Given the description of an element on the screen output the (x, y) to click on. 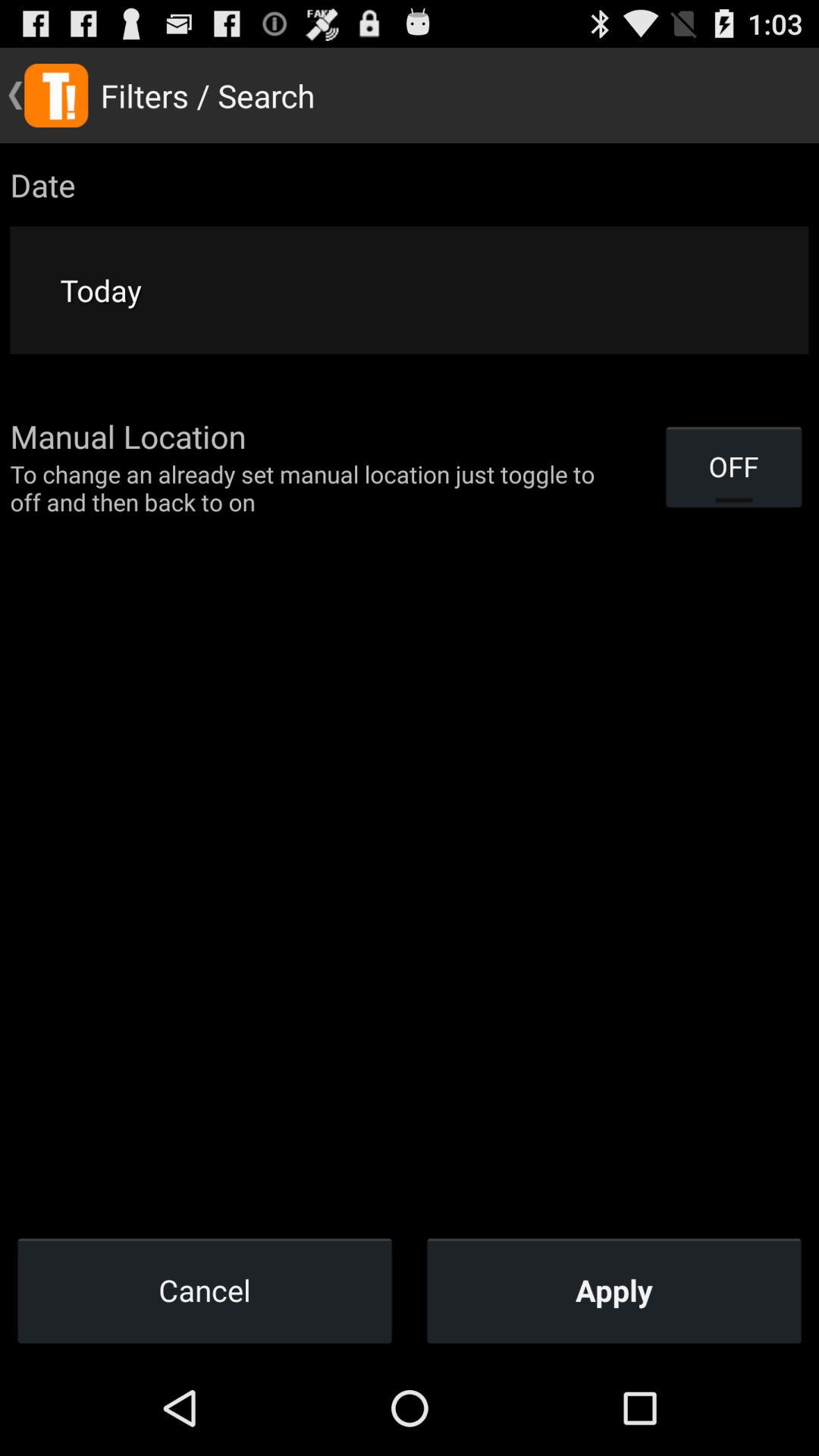
turn on item next to apply item (204, 1290)
